Given the description of an element on the screen output the (x, y) to click on. 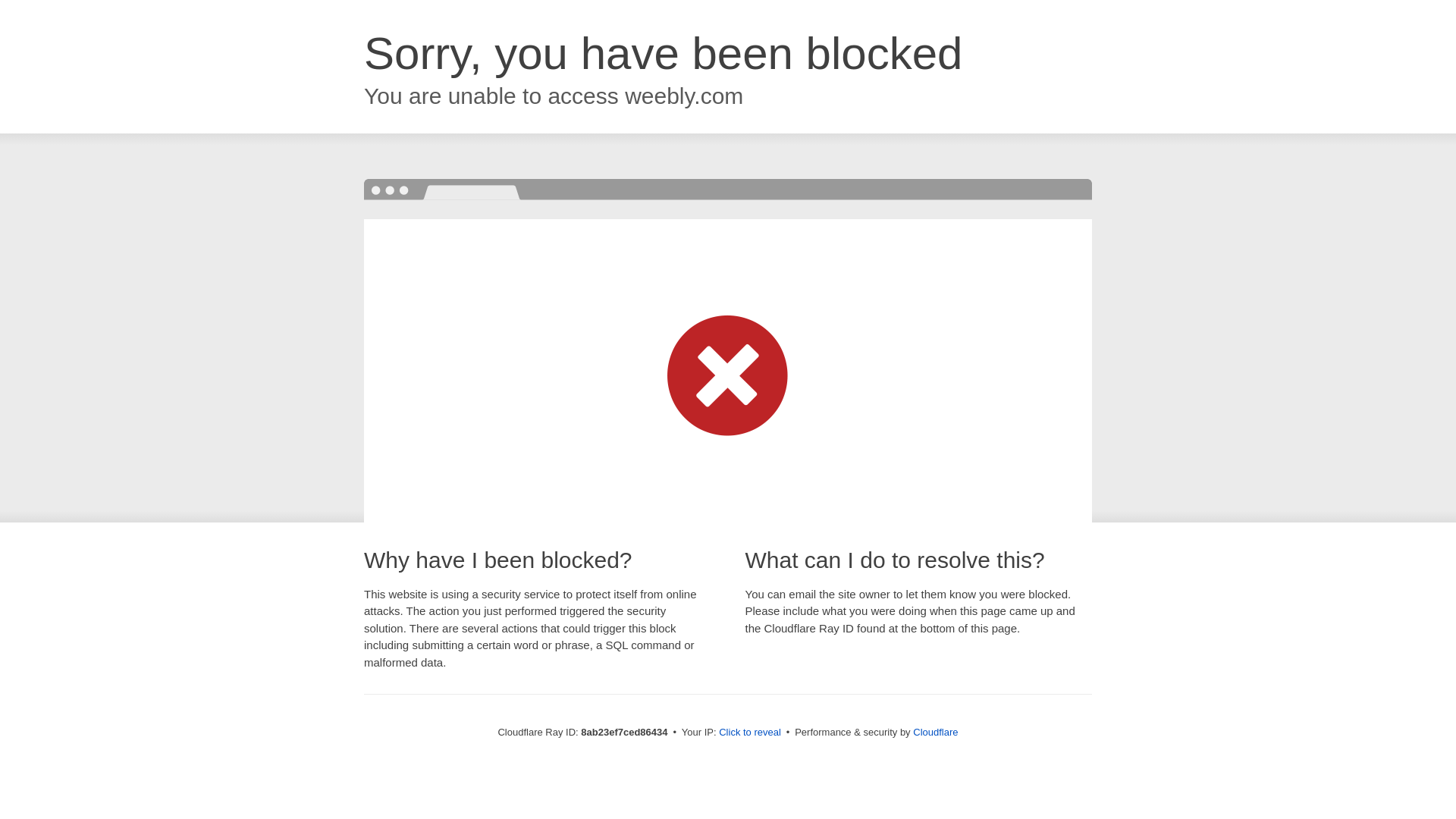
Cloudflare (935, 731)
Click to reveal (749, 732)
